Given the description of an element on the screen output the (x, y) to click on. 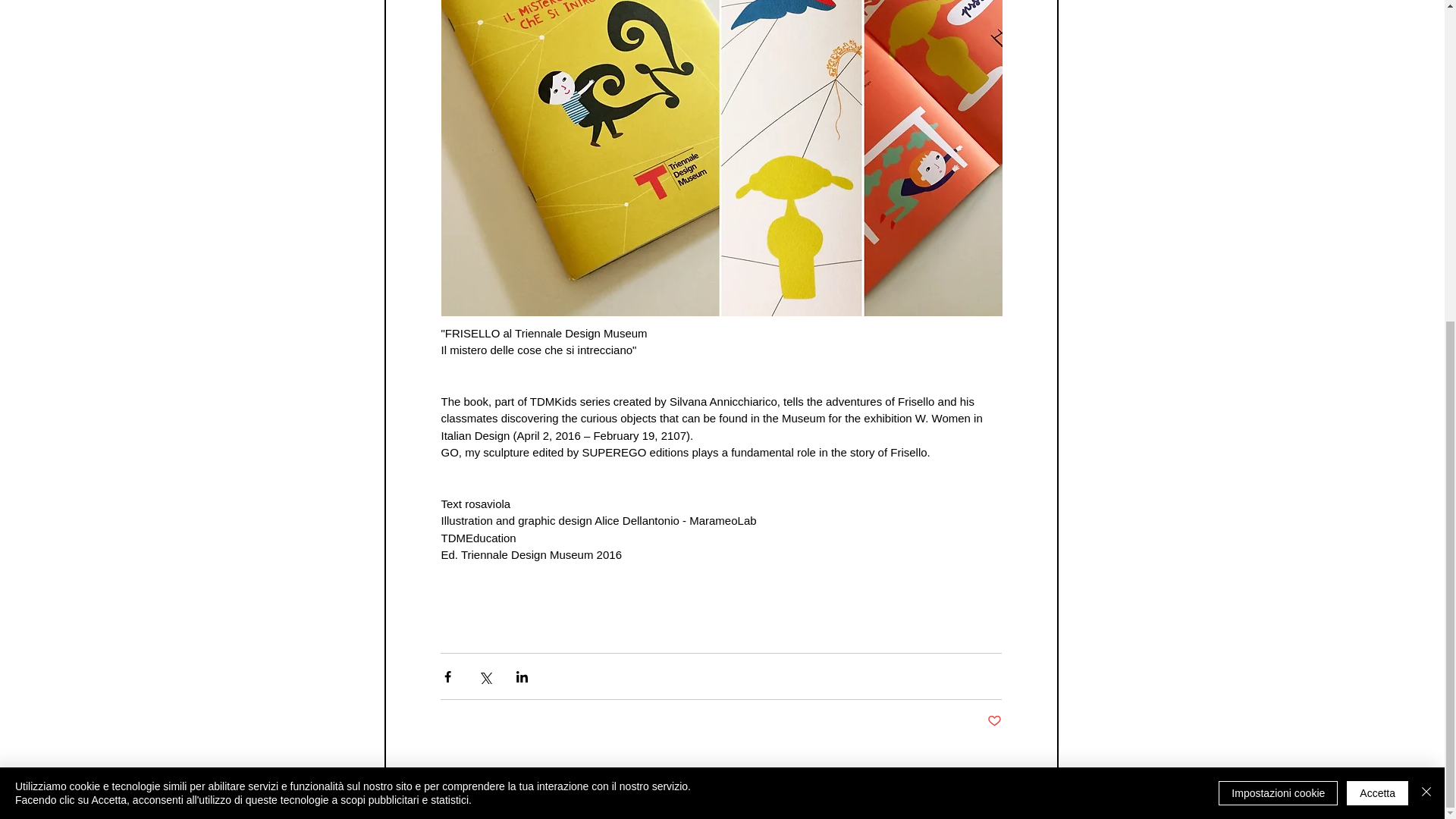
Accetta (1376, 270)
Post non contrassegnato con Mi piace (994, 721)
Impostazioni cookie (1278, 270)
